Given the description of an element on the screen output the (x, y) to click on. 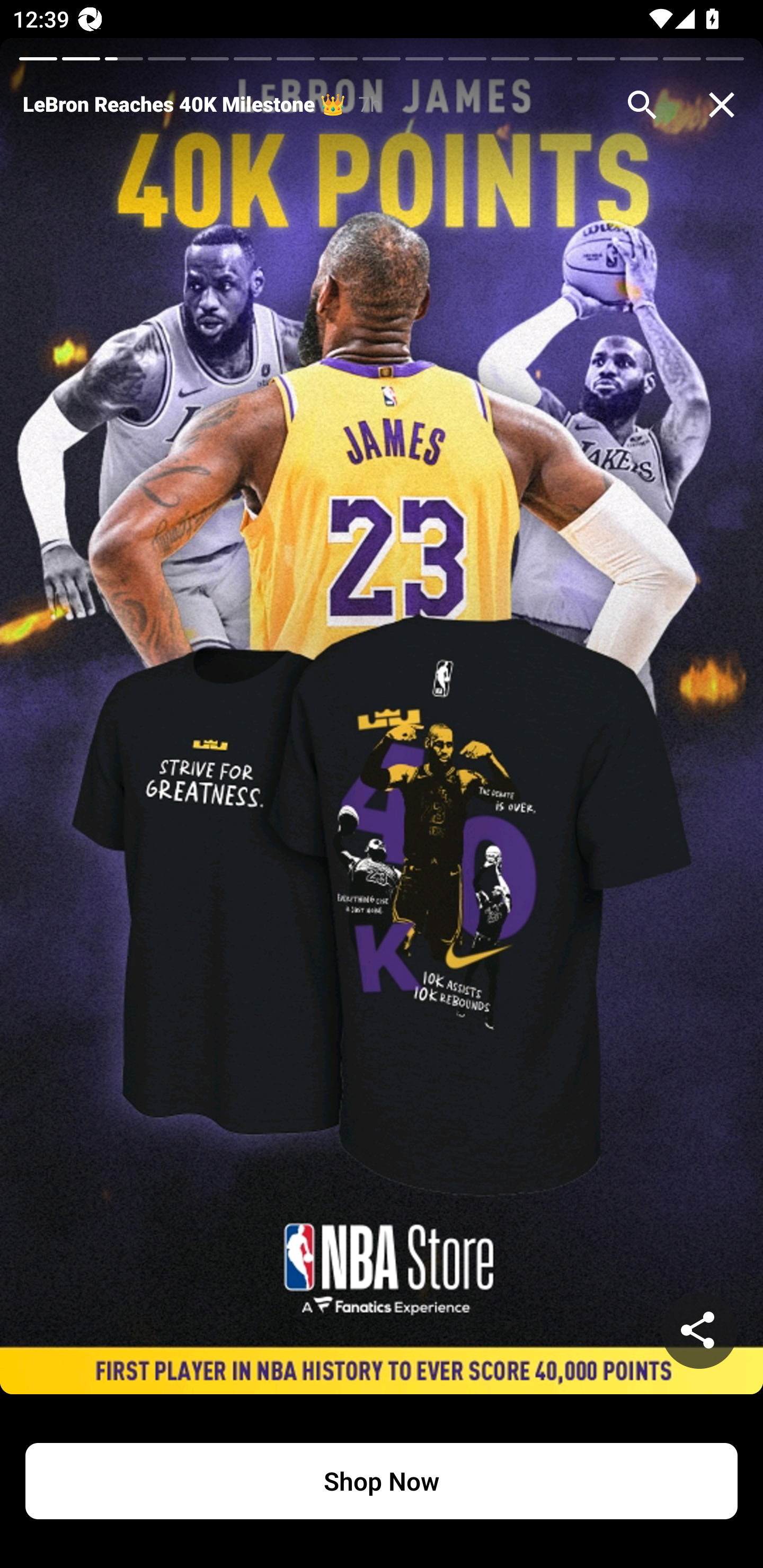
search (642, 104)
close (721, 104)
share (699, 1330)
Shop Now (381, 1480)
